Given the description of an element on the screen output the (x, y) to click on. 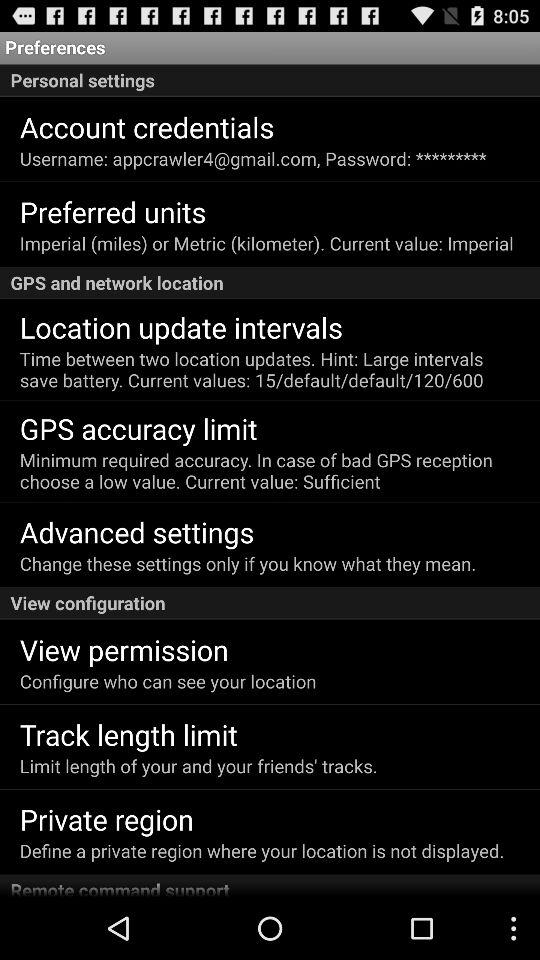
choose app above the location update intervals icon (270, 282)
